Given the description of an element on the screen output the (x, y) to click on. 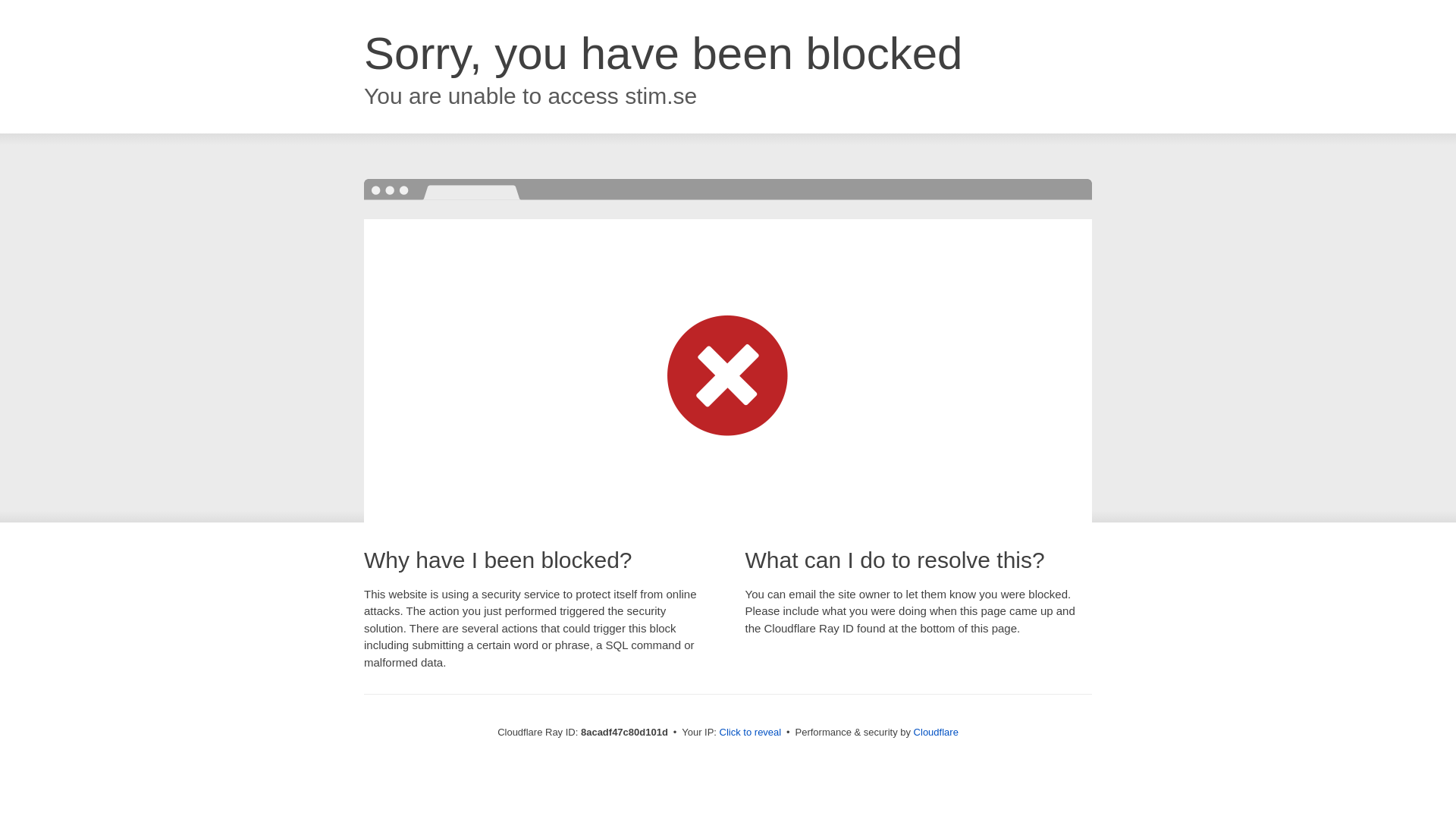
Click to reveal (750, 732)
Cloudflare (936, 731)
